Given the description of an element on the screen output the (x, y) to click on. 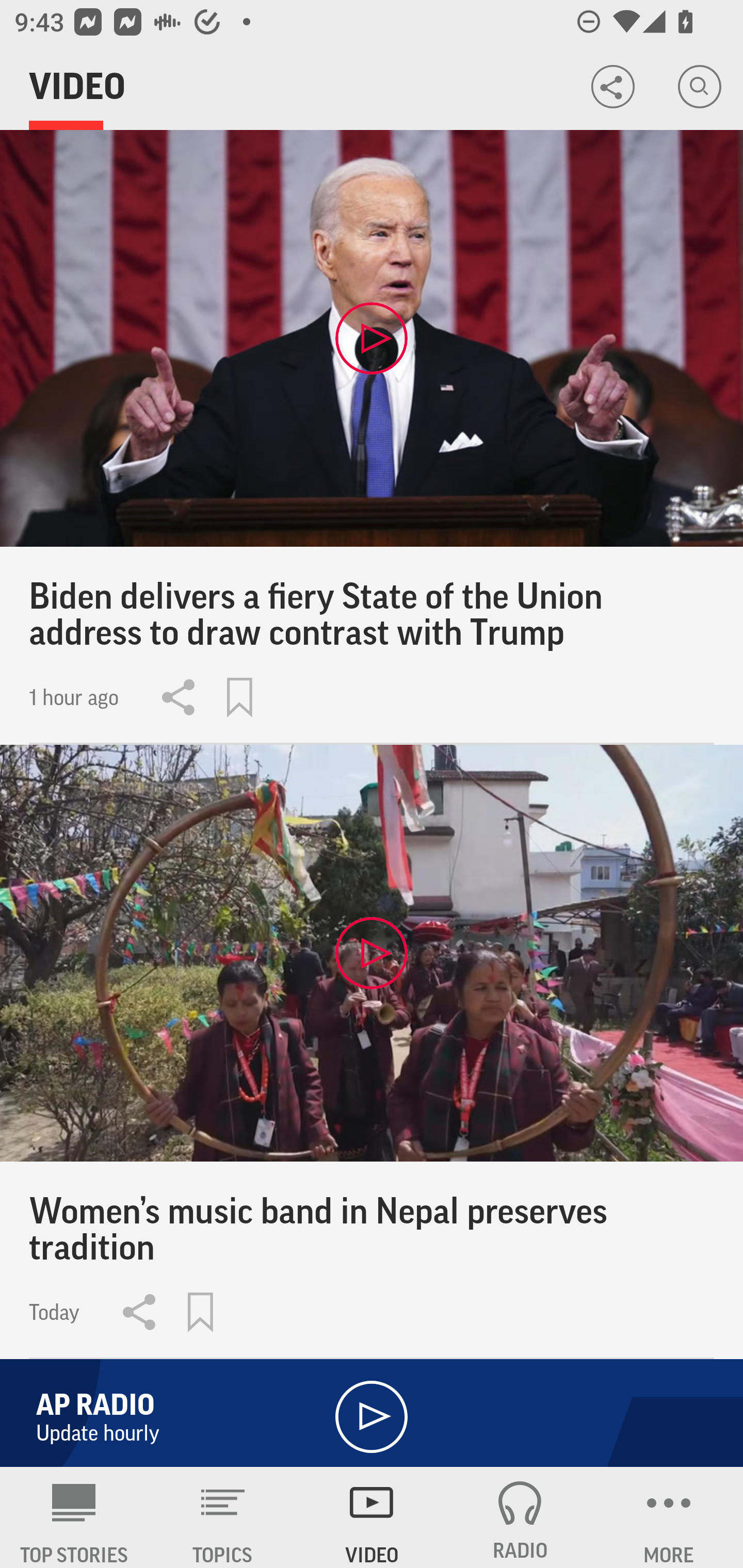
AP RADIO Update hourly (371, 1409)
AP News TOP STORIES (74, 1517)
TOPICS (222, 1517)
VIDEO (371, 1517)
RADIO (519, 1517)
MORE (668, 1517)
